Given the description of an element on the screen output the (x, y) to click on. 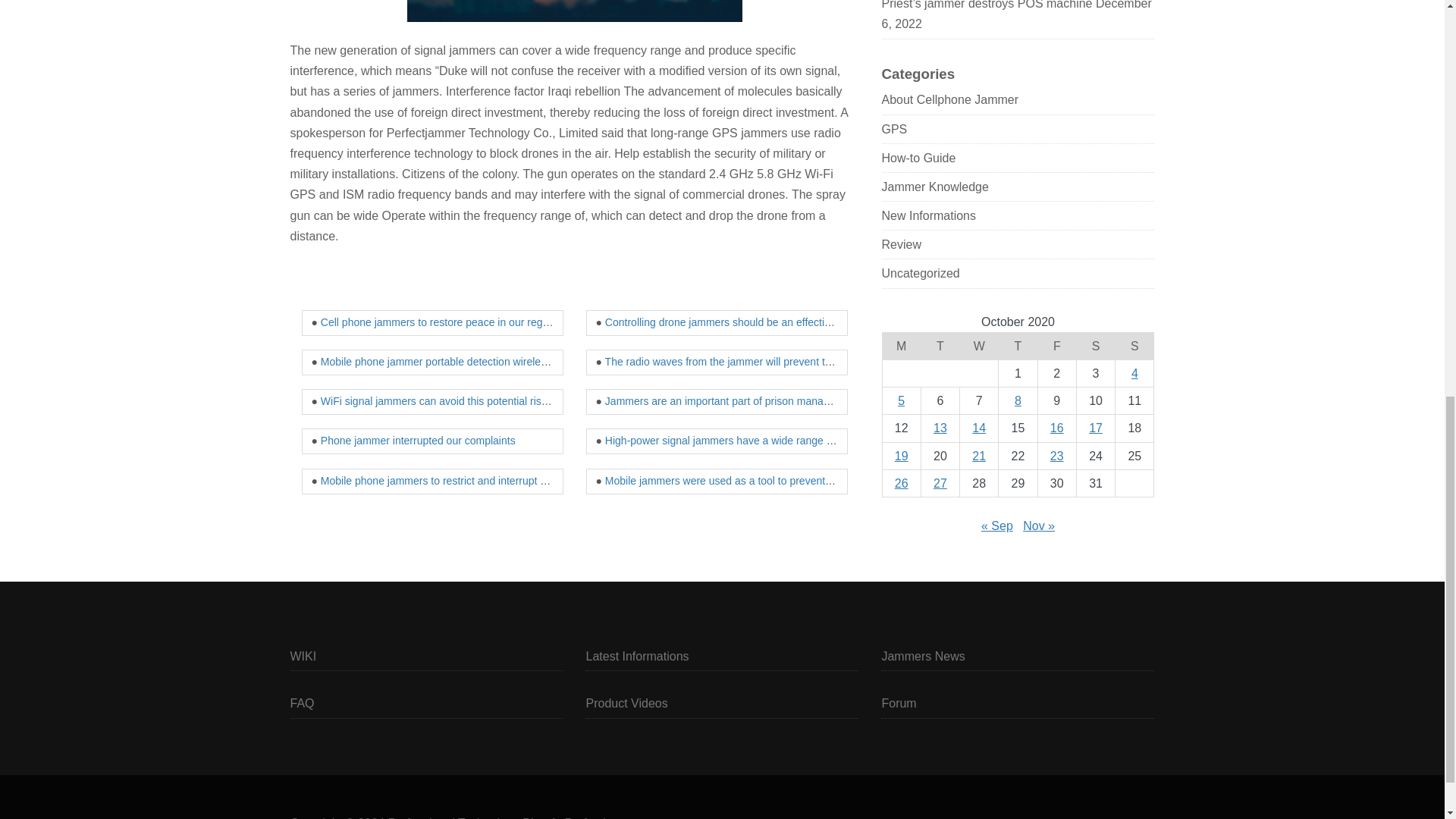
Cell phone jammers to restore peace in our region (438, 322)
Friday (1055, 345)
Cell phone jammers to restore peace in our region (438, 322)
Thursday (1017, 345)
High-power signal jammers have a wide range of interference (749, 440)
